Given the description of an element on the screen output the (x, y) to click on. 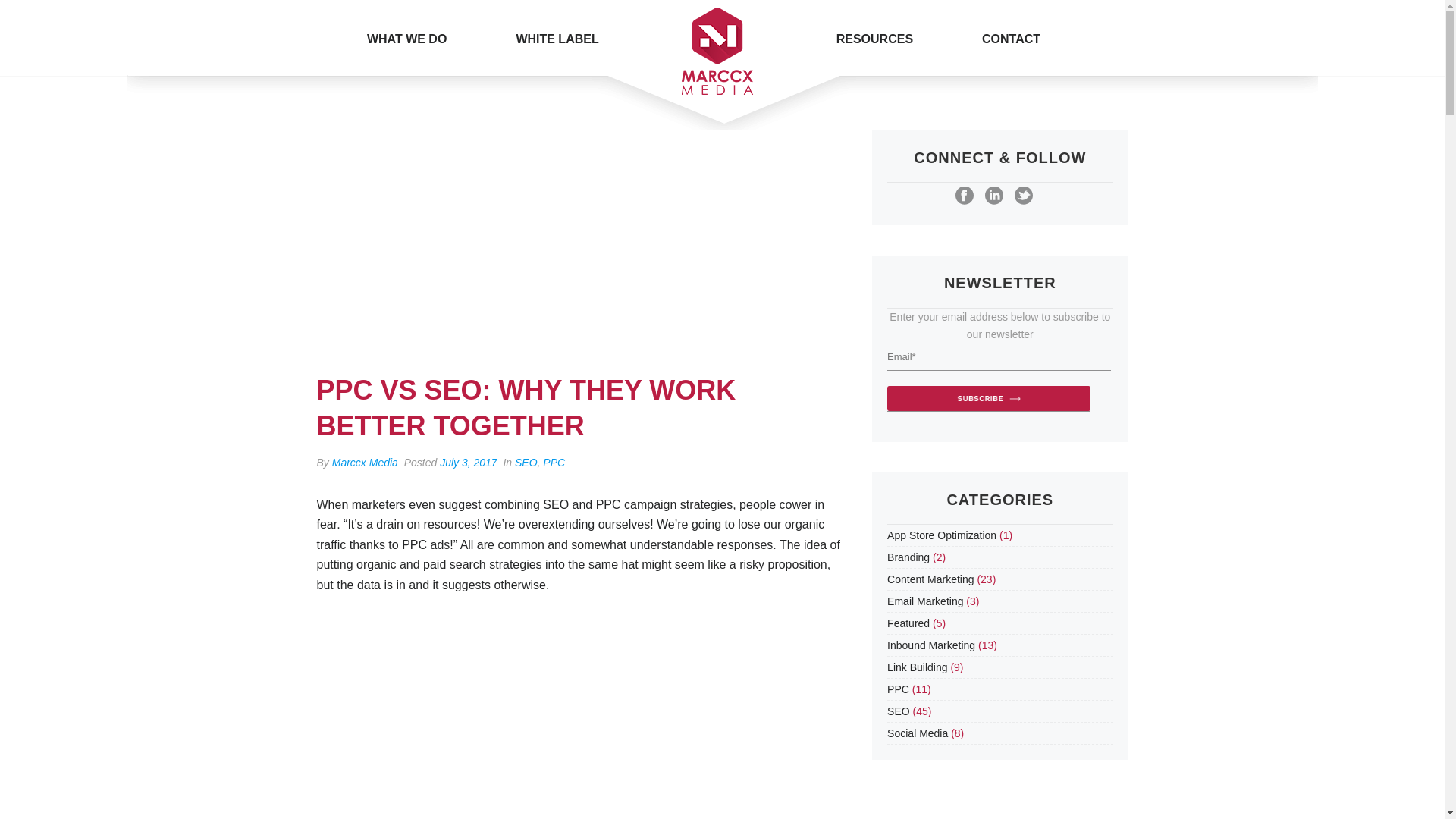
PPC vs SEO: Why They Work Better Together (580, 243)
July 3, 2017 (468, 462)
WHAT WE DO (406, 38)
RESOURCES (874, 38)
PPC (553, 462)
SEO (526, 462)
Marccx Media (364, 462)
CONTACT (1010, 38)
WHITE LABEL (556, 38)
WHITE LABEL (556, 38)
